Given the description of an element on the screen output the (x, y) to click on. 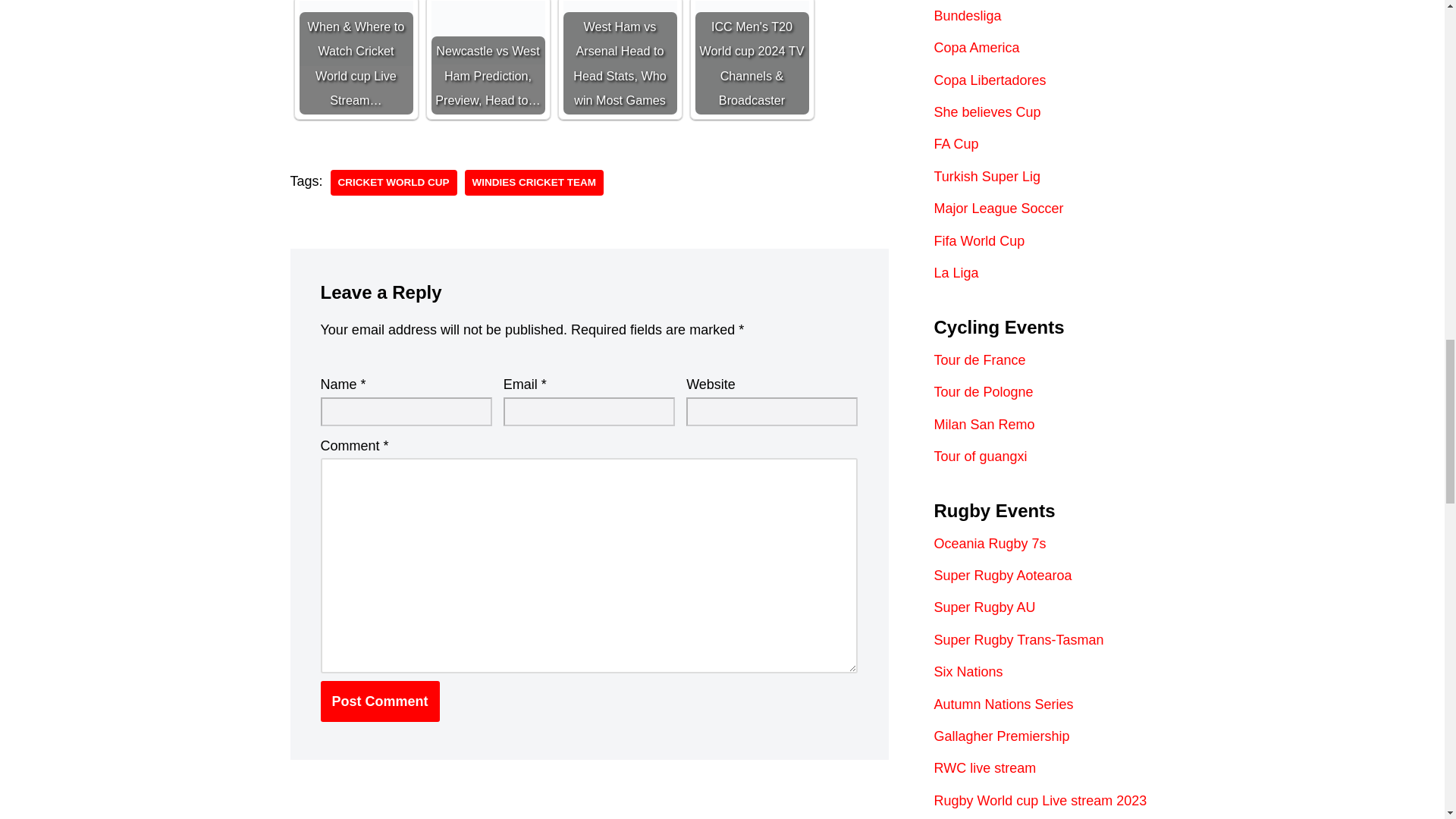
West Ham vs Arsenal Head to Head Stats, Who win Most Games (619, 57)
Cricket World Cup (393, 182)
Windies Cricket Team (534, 182)
Post Comment (379, 701)
Post Comment (379, 701)
CRICKET WORLD CUP (393, 182)
West Ham vs Arsenal Head to Head Stats, Who win Most Games (619, 57)
WINDIES CRICKET TEAM (534, 182)
